Given the description of an element on the screen output the (x, y) to click on. 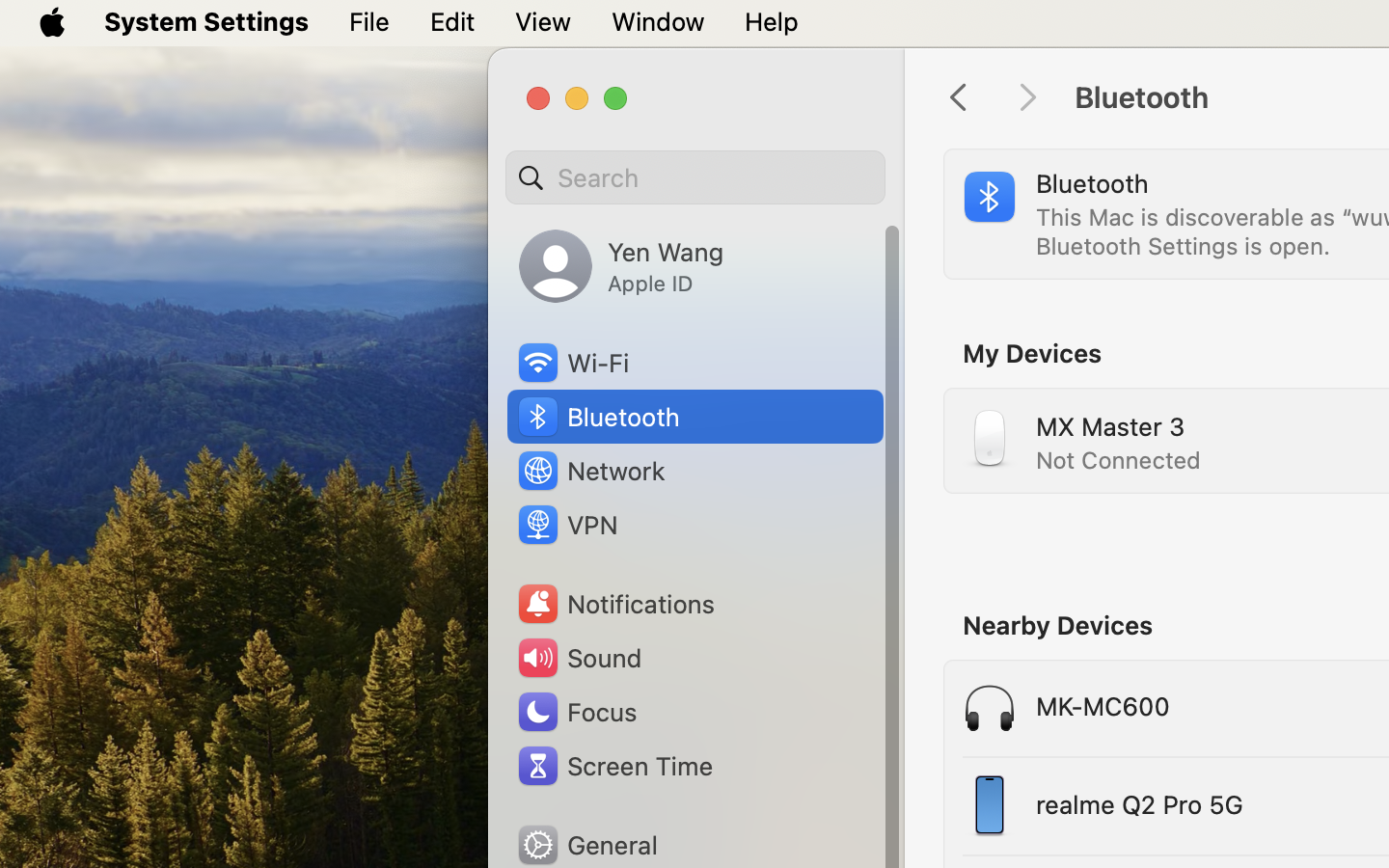
Network Element type: AXStaticText (590, 470)
Screen Time Element type: AXStaticText (614, 765)
Notifications Element type: AXStaticText (615, 603)
Bluetooth Element type: AXStaticText (597, 416)
Sound Element type: AXStaticText (578, 657)
